Given the description of an element on the screen output the (x, y) to click on. 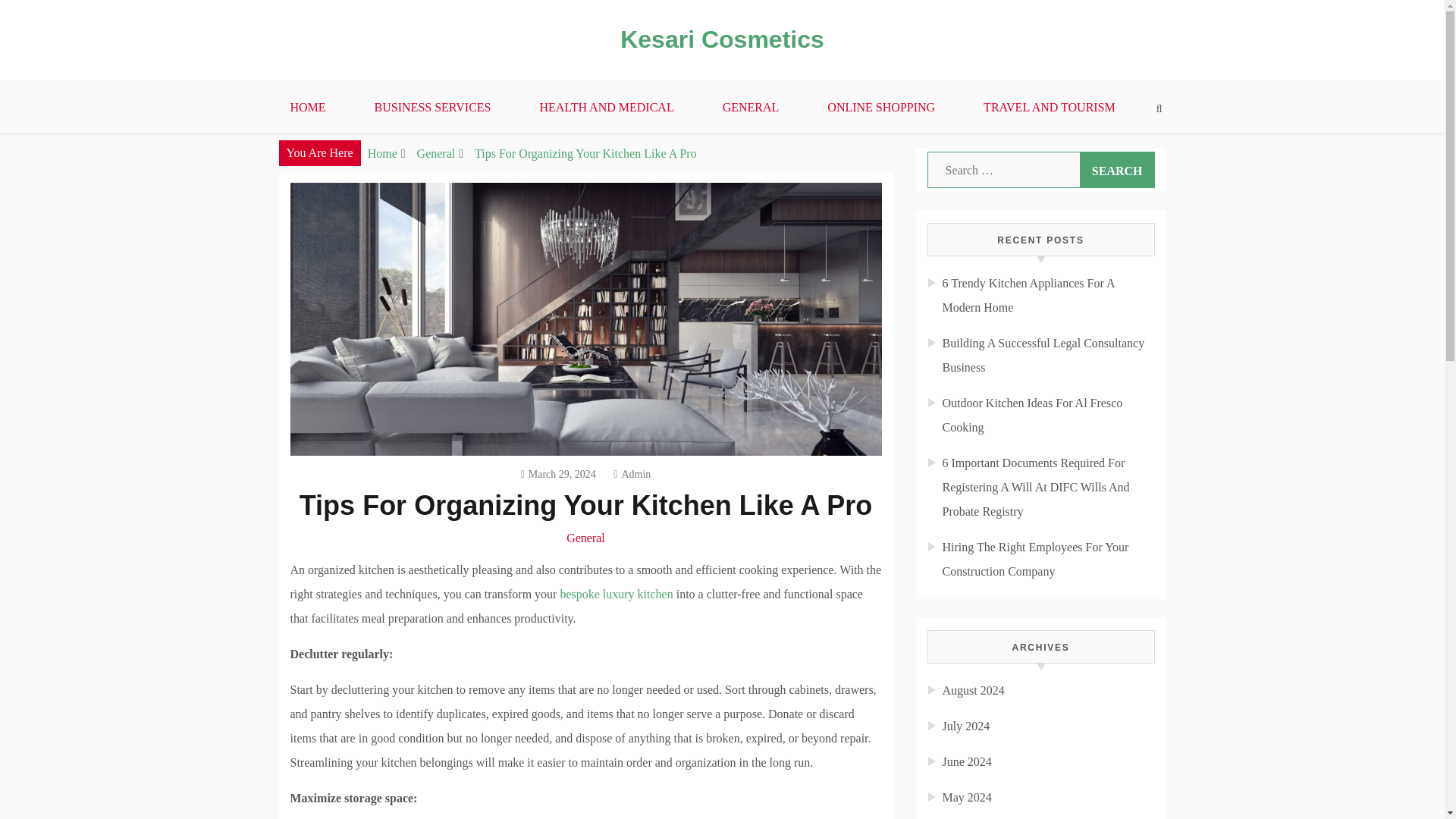
BUSINESS SERVICES (432, 107)
June 2024 (966, 761)
Building A Successful Legal Consultancy Business (1043, 354)
May 2024 (966, 797)
Search (1117, 169)
Home (382, 153)
GENERAL (751, 107)
Kesari Cosmetics (722, 39)
Outdoor Kitchen Ideas For Al Fresco Cooking (1032, 415)
6 Trendy Kitchen Appliances For A Modern Home (1027, 294)
August 2024 (973, 689)
Tips For Organizing Your Kitchen Like A Pro (584, 153)
HEALTH AND MEDICAL (605, 107)
Search (1117, 169)
General (585, 537)
